Given the description of an element on the screen output the (x, y) to click on. 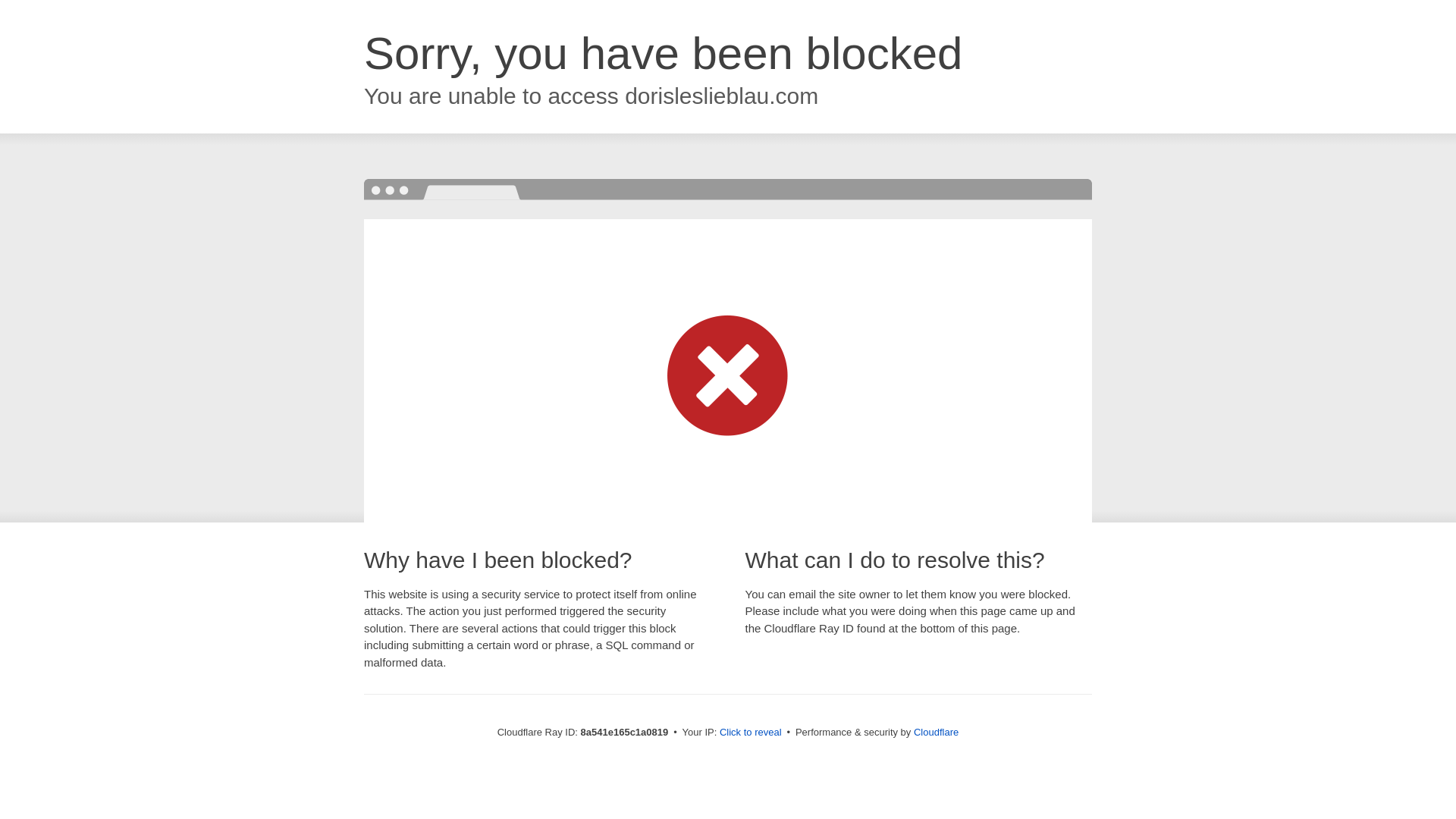
Click to reveal (750, 732)
Cloudflare (936, 731)
